Given the description of an element on the screen output the (x, y) to click on. 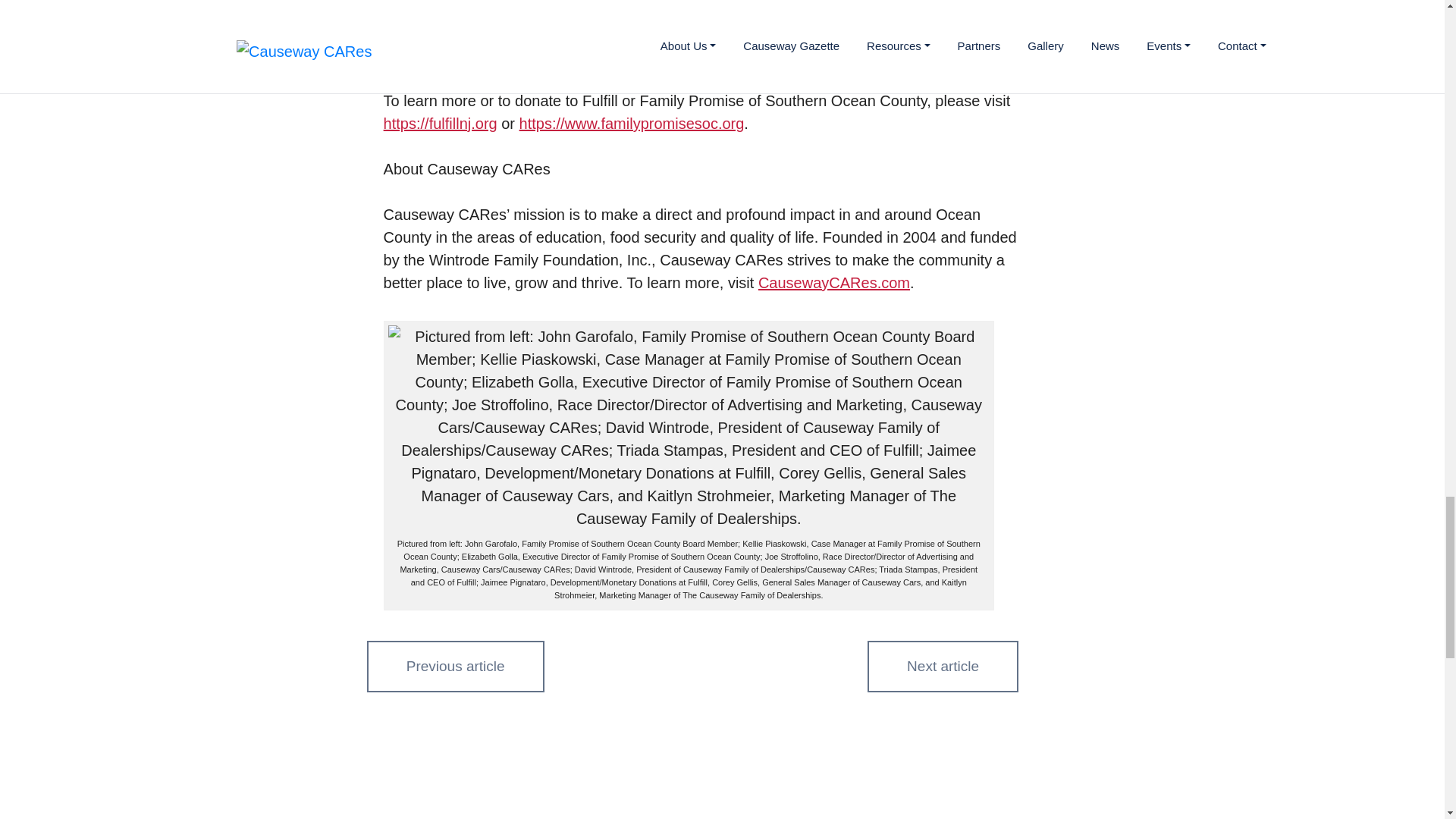
Previous article (455, 664)
Next article (942, 666)
Next article (942, 664)
Previous article (455, 666)
CausewayCARes.com (834, 282)
